Given the description of an element on the screen output the (x, y) to click on. 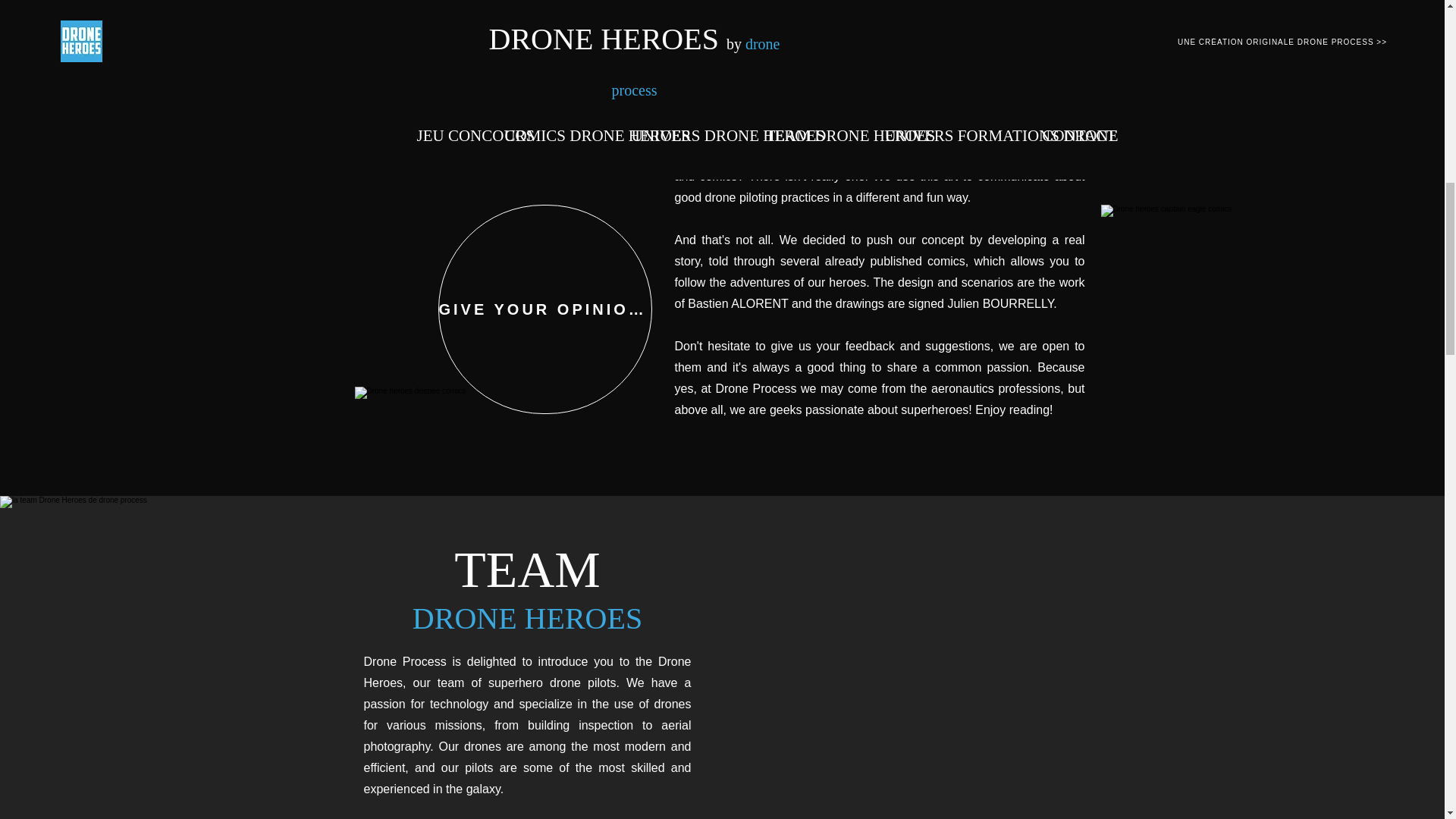
Drone heroes ludy woman comics (505, 66)
